Given the description of an element on the screen output the (x, y) to click on. 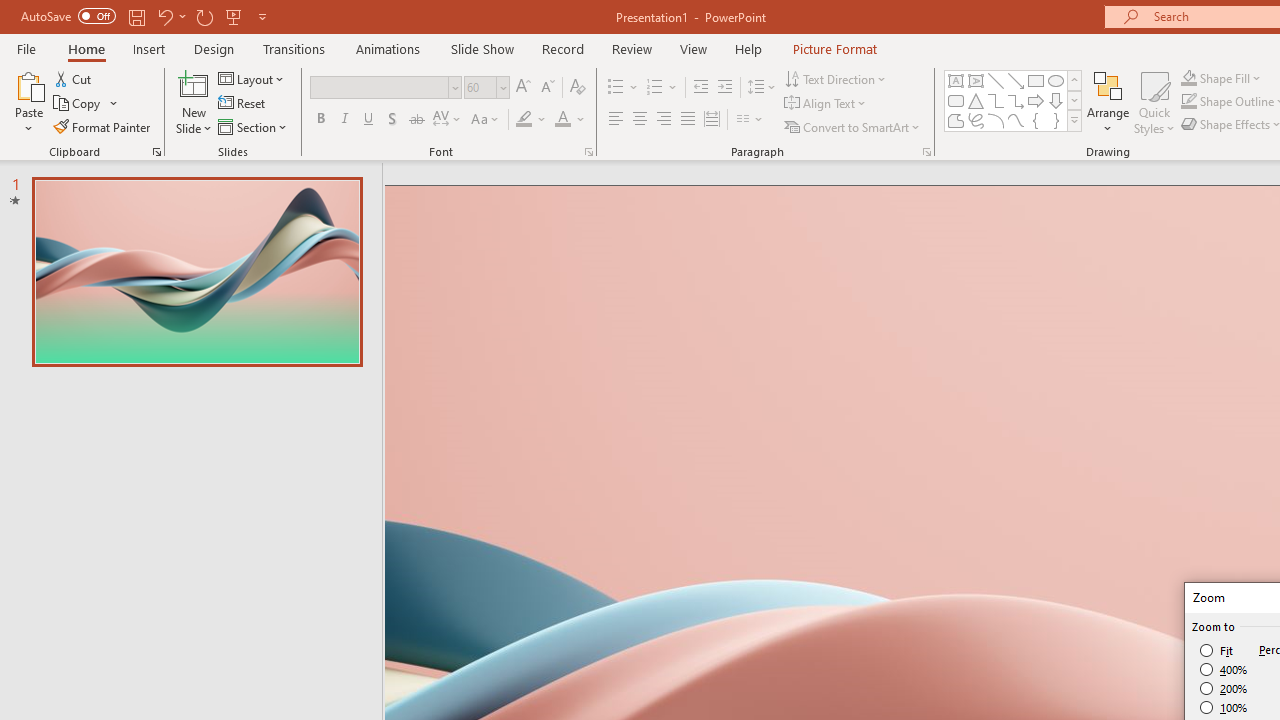
Arrow: Down (1055, 100)
Freeform: Shape (955, 120)
Text Direction (836, 78)
Layout (252, 78)
Curve (1016, 120)
Left Brace (1035, 120)
Shape Fill (1221, 78)
Rectangle: Rounded Corners (955, 100)
Align Text (826, 103)
Align Right (663, 119)
